Given the description of an element on the screen output the (x, y) to click on. 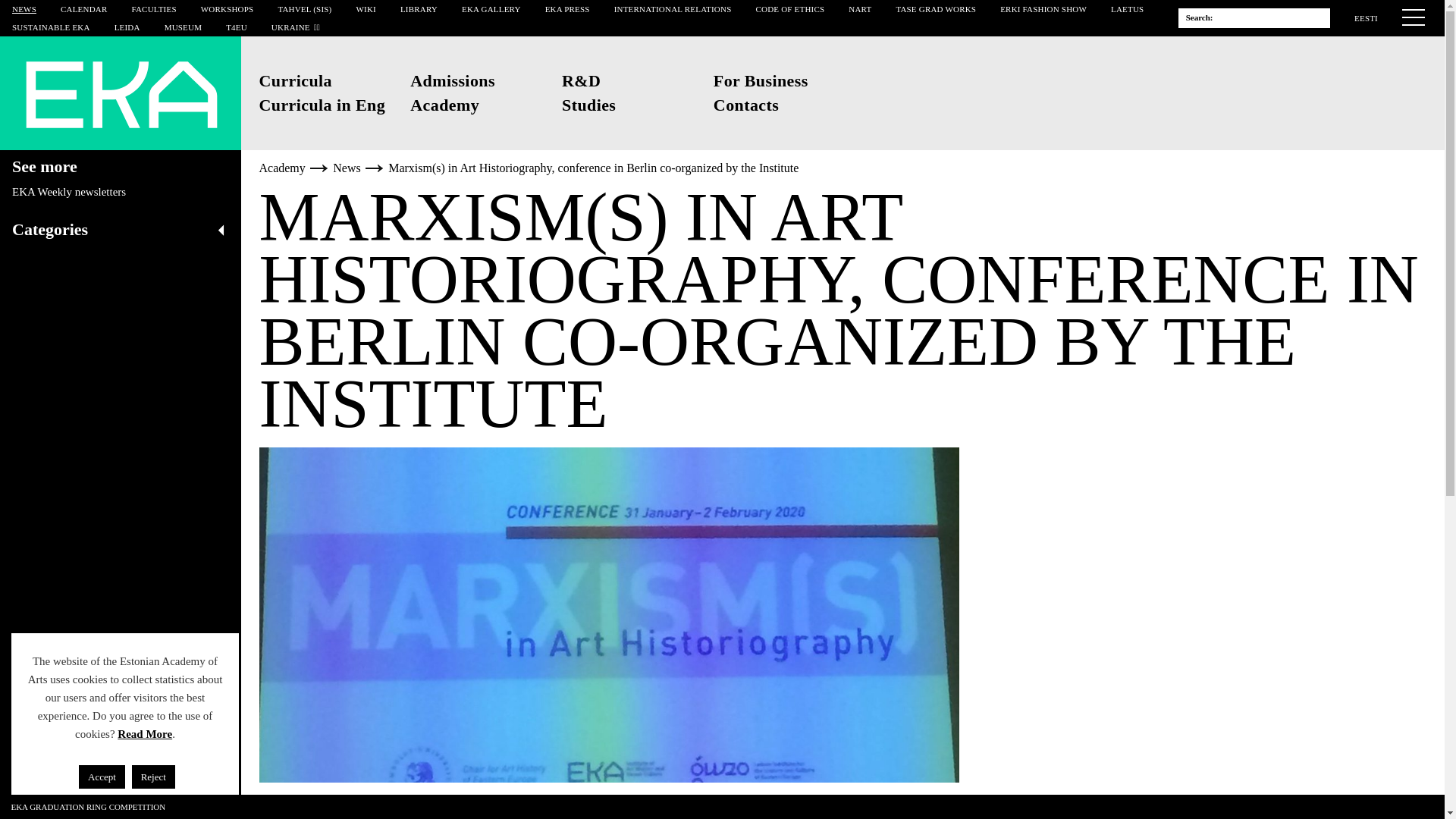
CALENDAR (83, 9)
WIKI (365, 9)
NEWS (24, 9)
FACULTIES (153, 9)
EKA GALLERY (490, 9)
INTERNATIONAL RELATIONS (673, 9)
EKA GRADUATION RING COMPETITION (87, 806)
EKA PRESS (567, 9)
LIBRARY (418, 9)
WORKSHOPS (227, 9)
